Given the description of an element on the screen output the (x, y) to click on. 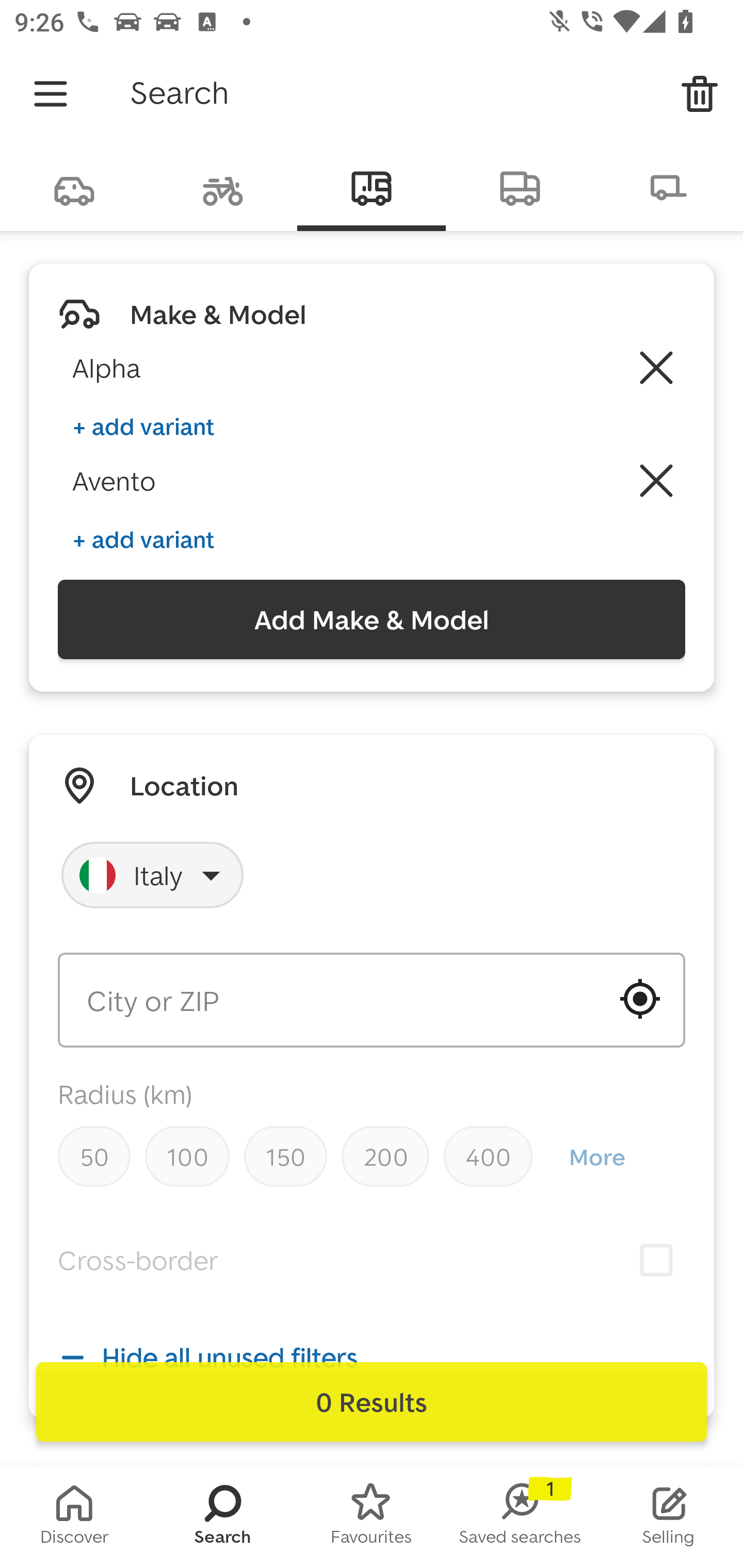
Navigate up (50, 93)
New search (699, 93)
CAR_SEARCH (74, 187)
BIKE_SEARCH (222, 187)
TRUCKS_SEARCH (519, 187)
TRAILERS_SEARCH (668, 187)
Make & Model (218, 314)
+ add variant (143, 426)
+ add variant (143, 539)
Add Make & Model (371, 619)
Location (184, 785)
Italy (152, 874)
City or ZIP (371, 1000)
Radius (km) (124, 1094)
50 (93, 1155)
100 (186, 1155)
150 (284, 1155)
200 (385, 1155)
400 (487, 1155)
More (596, 1156)
0 Results (371, 1401)
HOMESCREEN Discover (74, 1517)
SEARCH Search (222, 1517)
FAVORITES Favourites (371, 1517)
SAVED_SEARCHES Saved searches 1 (519, 1517)
STOCK_LIST Selling (668, 1517)
